Given the description of an element on the screen output the (x, y) to click on. 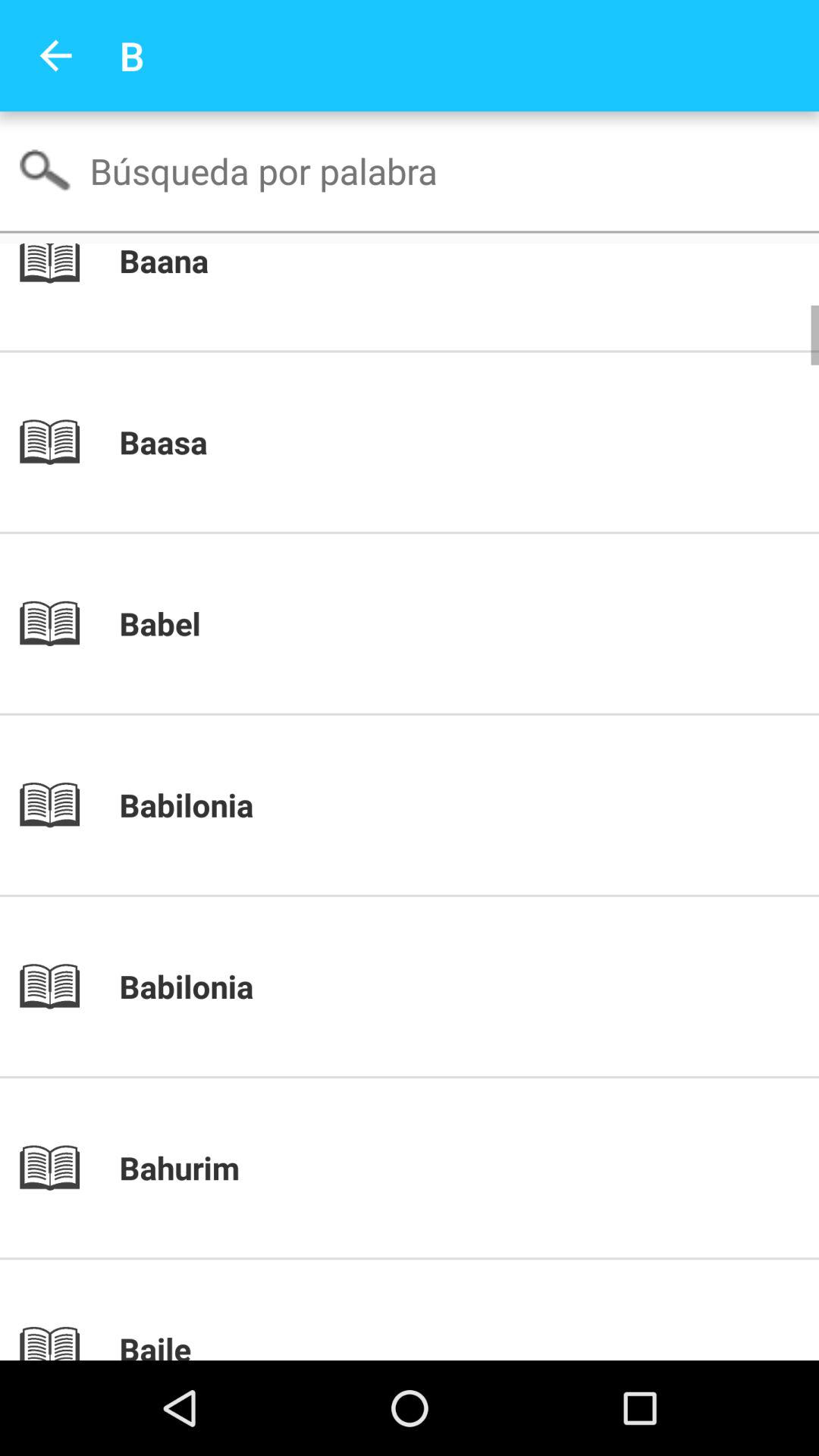
flip until baana item (435, 262)
